Given the description of an element on the screen output the (x, y) to click on. 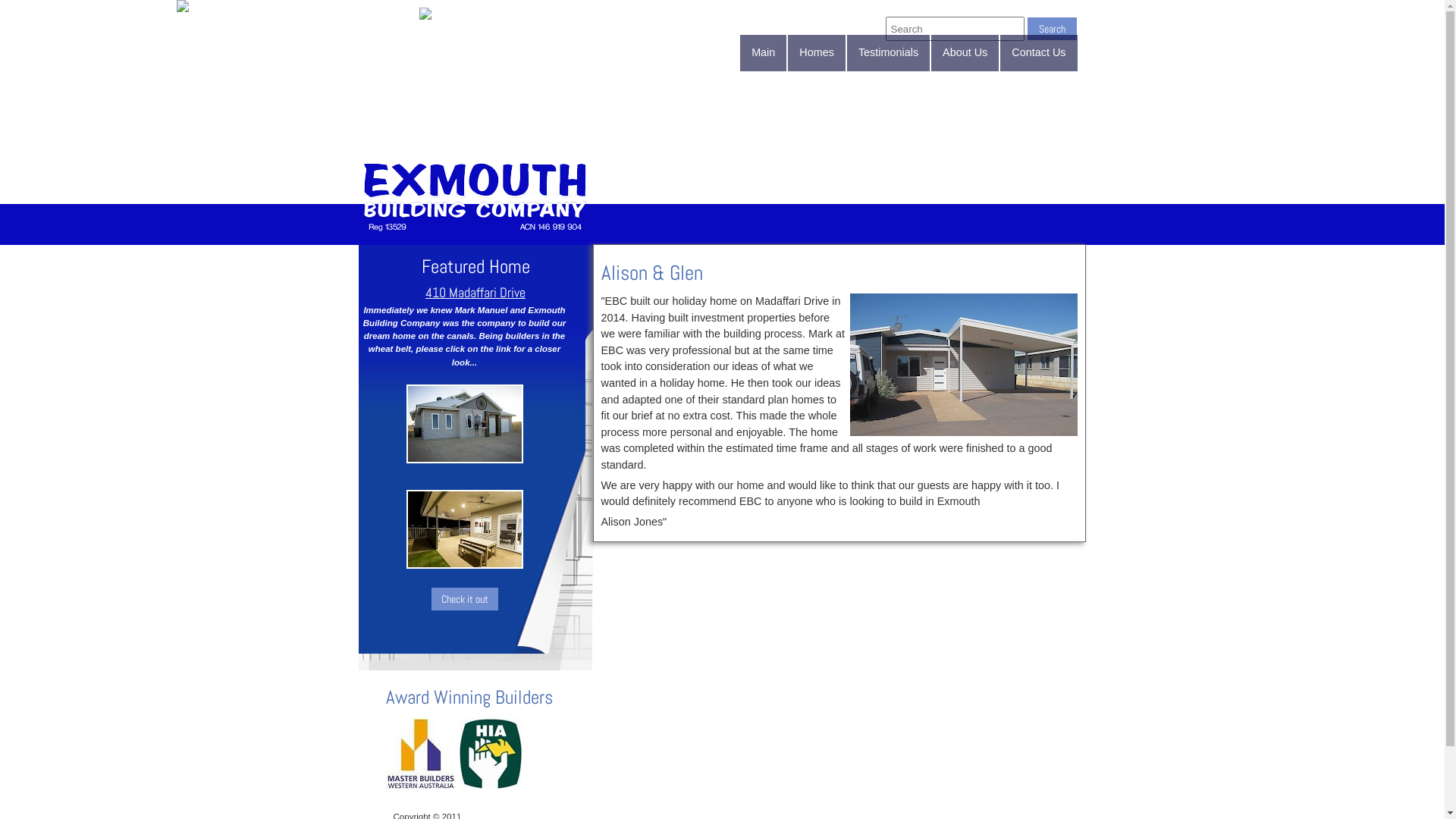
Search Element type: text (1051, 28)
Homes Element type: text (816, 52)
Testimonials Element type: text (888, 52)
Check it out Element type: text (463, 598)
Main Element type: text (763, 52)
Contact Us Element type: text (1038, 52)
About Us Element type: text (964, 52)
